Given the description of an element on the screen output the (x, y) to click on. 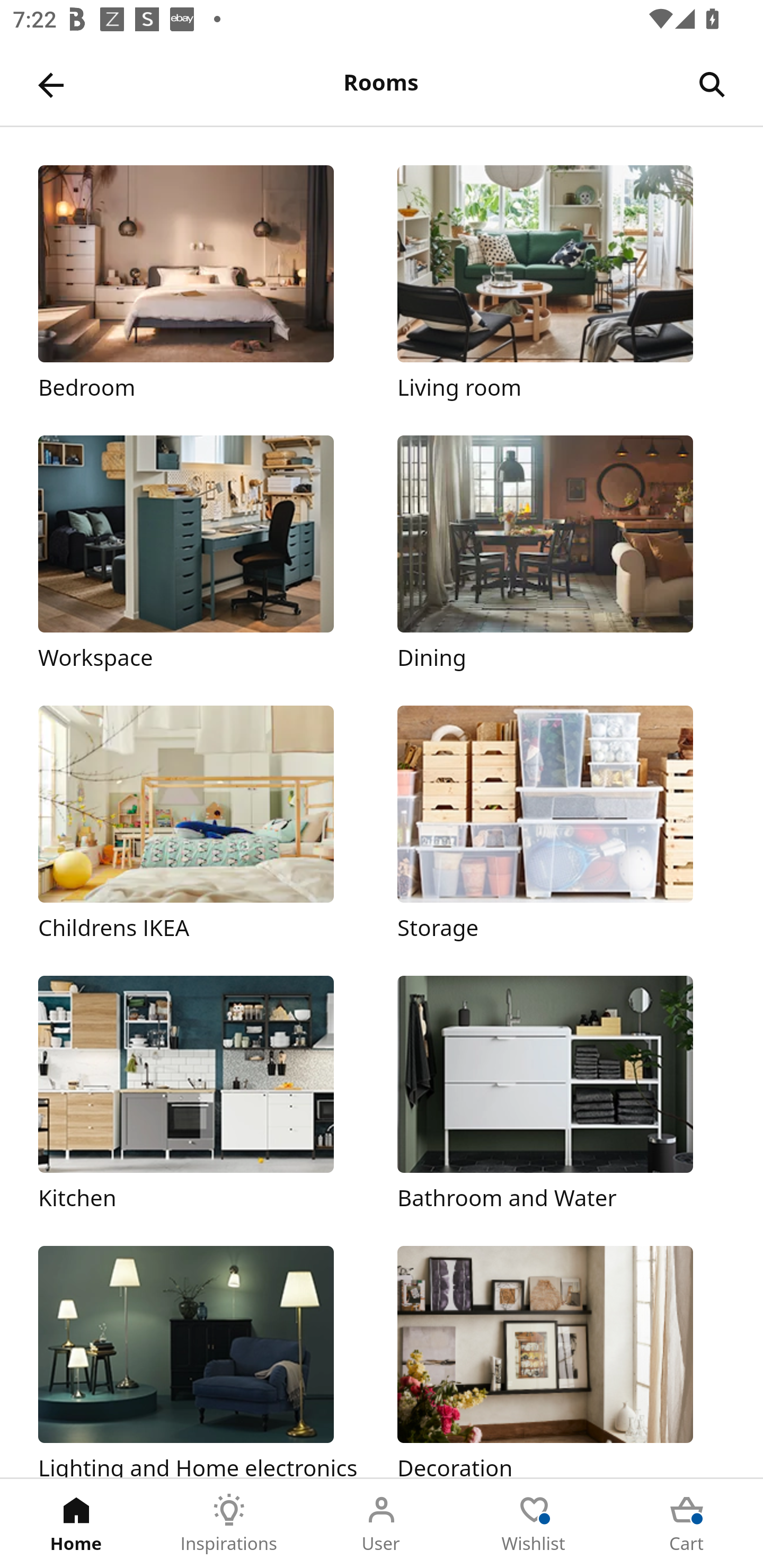
Bedroom (201, 283)
Living room (560, 283)
Workspace (201, 554)
Dining (560, 554)
Childrens IKEA (201, 824)
Storage (560, 824)
Kitchen (201, 1094)
Bathroom and Water (560, 1094)
Lighting and Home electronics (201, 1361)
Decoration (560, 1361)
Home
Tab 1 of 5 (76, 1522)
Inspirations
Tab 2 of 5 (228, 1522)
User
Tab 3 of 5 (381, 1522)
Wishlist
Tab 4 of 5 (533, 1522)
Cart
Tab 5 of 5 (686, 1522)
